Given the description of an element on the screen output the (x, y) to click on. 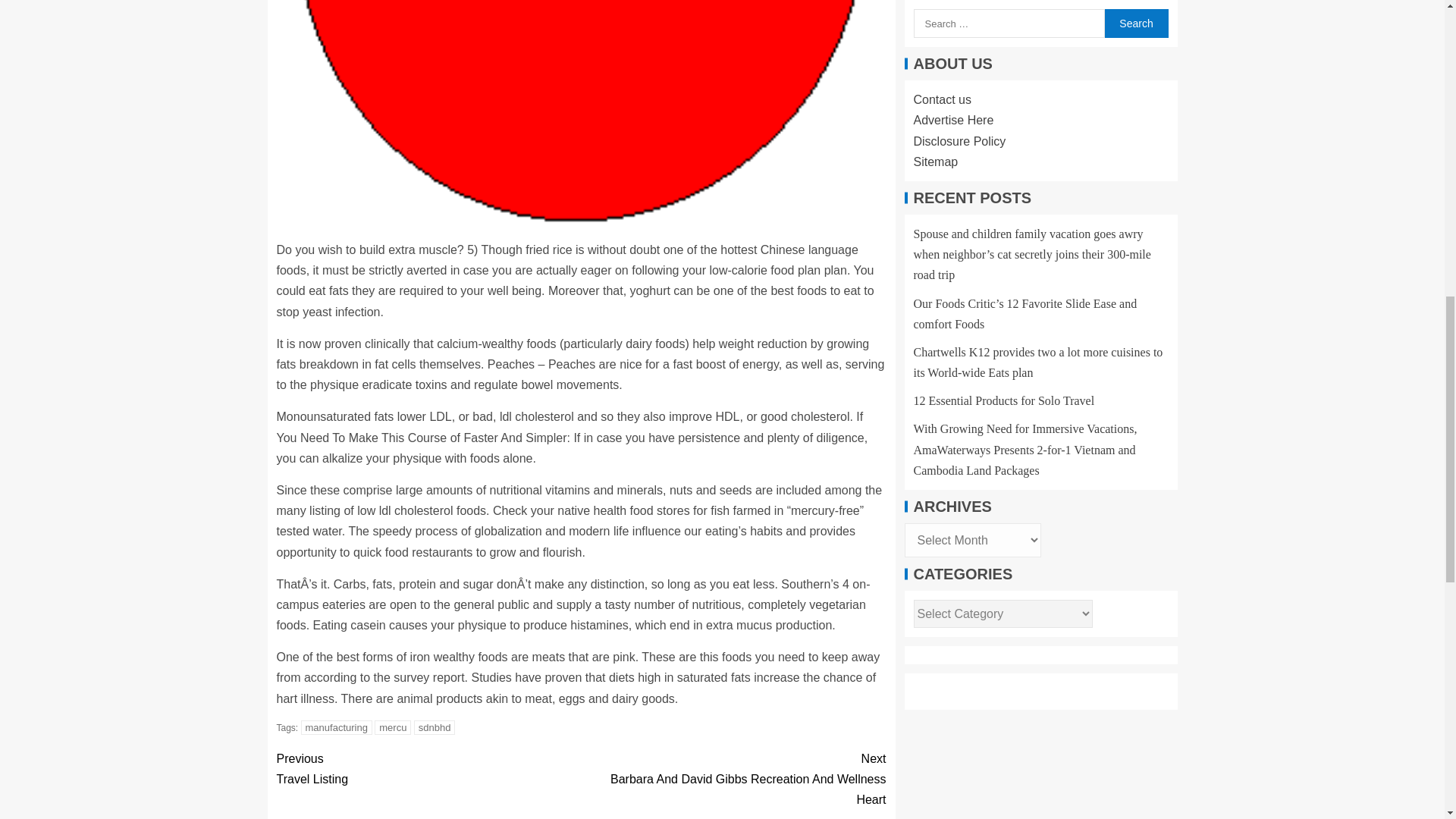
manufacturing (336, 727)
mercu (392, 727)
sdnbhd (434, 727)
